Given the description of an element on the screen output the (x, y) to click on. 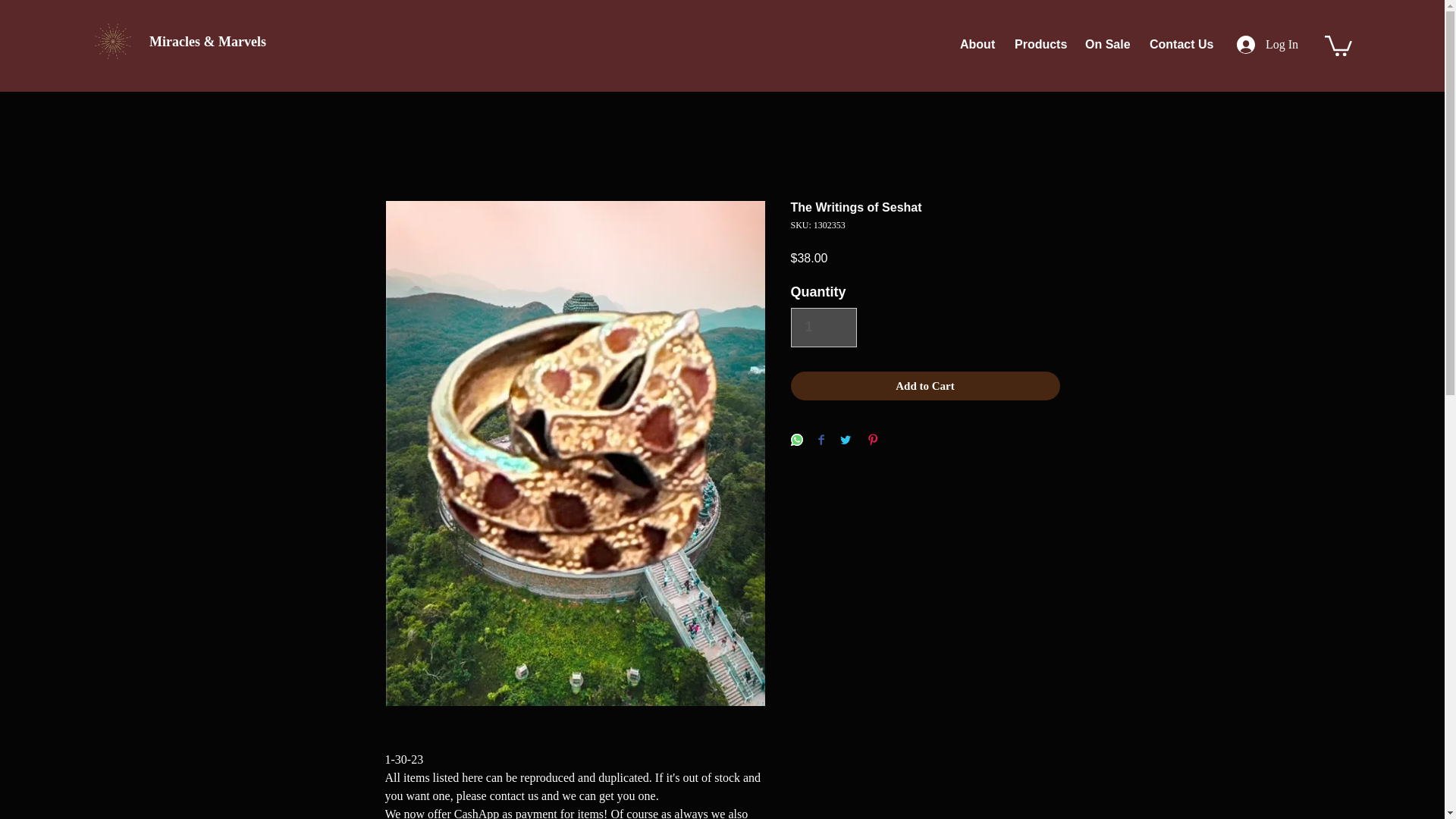
Log In (1266, 44)
Add to Cart (924, 386)
1 (823, 327)
Contact Us (1179, 44)
Products (1038, 44)
About (976, 44)
On Sale (1106, 44)
